Given the description of an element on the screen output the (x, y) to click on. 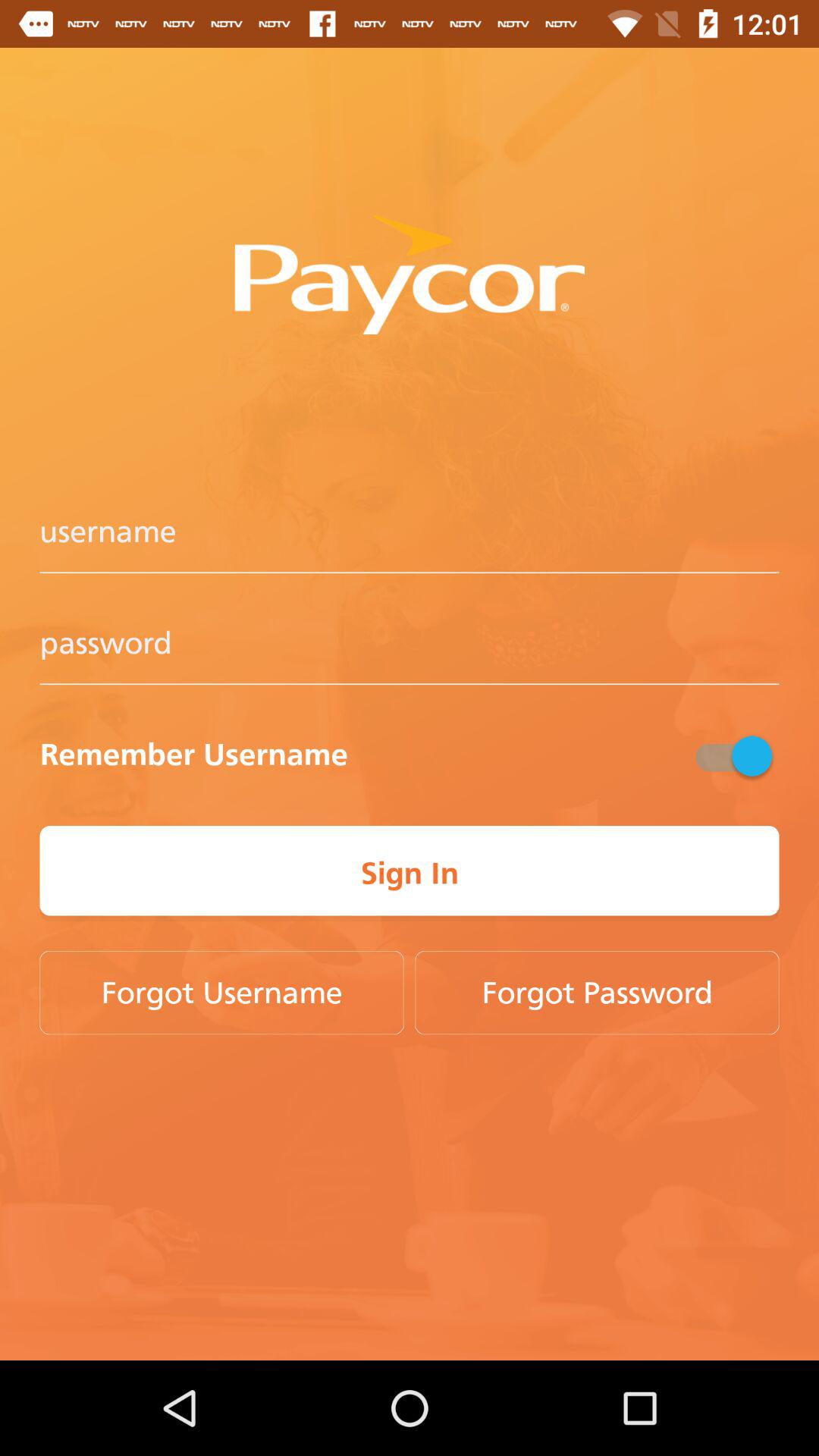
open the item next to the remember username (731, 755)
